Given the description of an element on the screen output the (x, y) to click on. 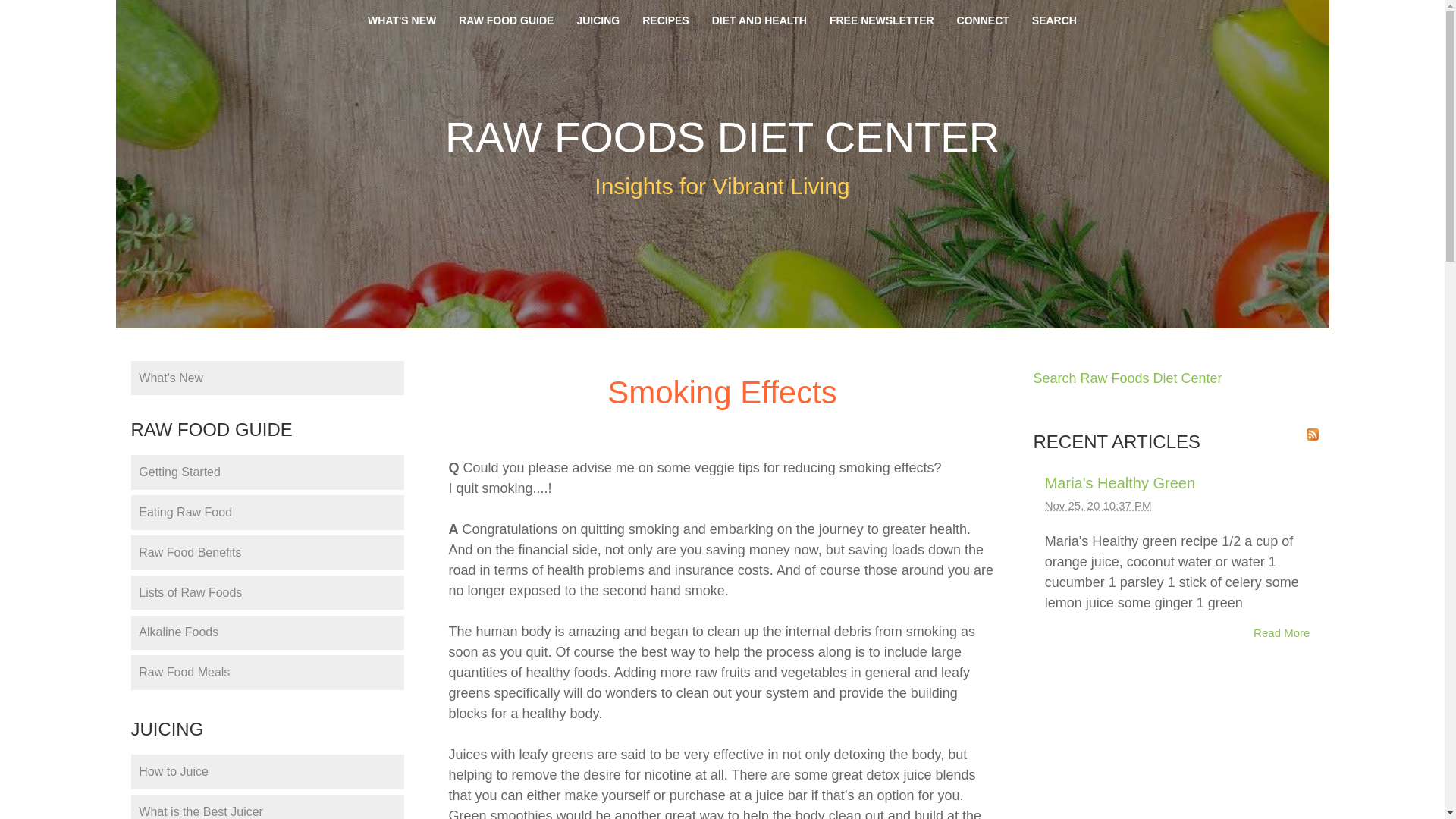
RAW FOODS DIET CENTER (721, 136)
Alkaline Foods (267, 632)
Lists of Raw Foods (267, 592)
FREE NEWSLETTER (881, 20)
What's New (267, 378)
How to Juice (267, 771)
WHAT'S NEW (401, 20)
What is the Best Juicer (267, 806)
Getting Started (267, 472)
SEARCH (1053, 20)
Raw Food Benefits (267, 552)
Eating Raw Food (267, 512)
2020-11-25T22:37:25-0500 (1098, 504)
Raw Food Meals (267, 672)
